Given the description of an element on the screen output the (x, y) to click on. 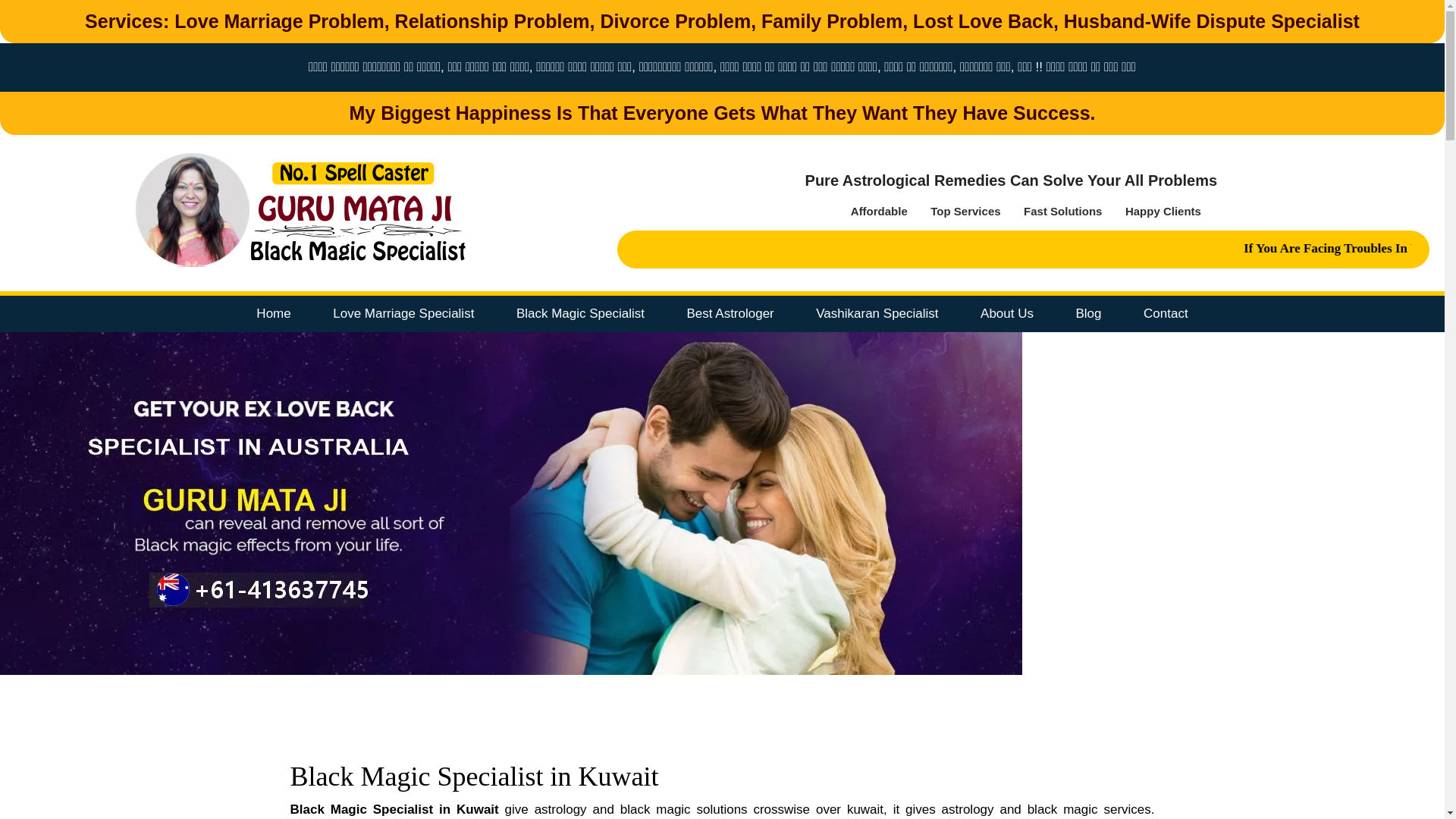
Contact (1165, 313)
Black Magic Specialist (580, 313)
Best Astrologer (730, 313)
Black Magic Specialist in Kuwait (473, 776)
Contact Us (1165, 313)
Guru Mata Ji (300, 211)
About Us (1006, 313)
Vashikaran Specialist (876, 313)
Best Astrologer (730, 313)
Blog (1087, 313)
Home (273, 313)
Vashikaran Specialist (876, 313)
Love Marriage Specialist (403, 313)
Love Marriage Specialist (403, 313)
Black Magic Specialist (580, 313)
